Given the description of an element on the screen output the (x, y) to click on. 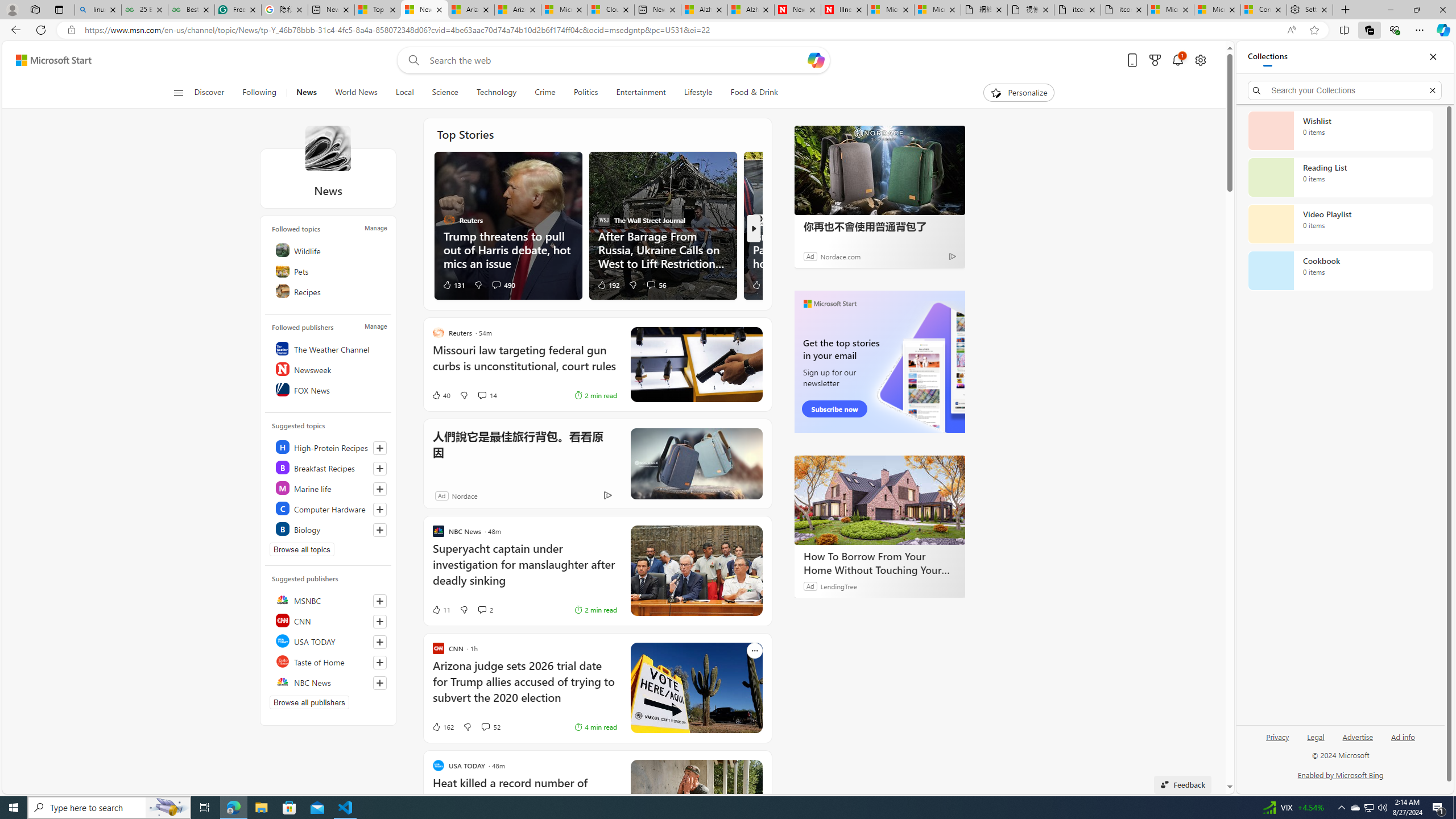
How To Borrow From Your Home Without Touching Your Mortgage (879, 499)
Web search (411, 60)
Reading List collection, 0 items (1339, 177)
Nordace (464, 495)
Follow this source (379, 682)
Local (404, 92)
FOX News (328, 389)
Pets (328, 270)
